Given the description of an element on the screen output the (x, y) to click on. 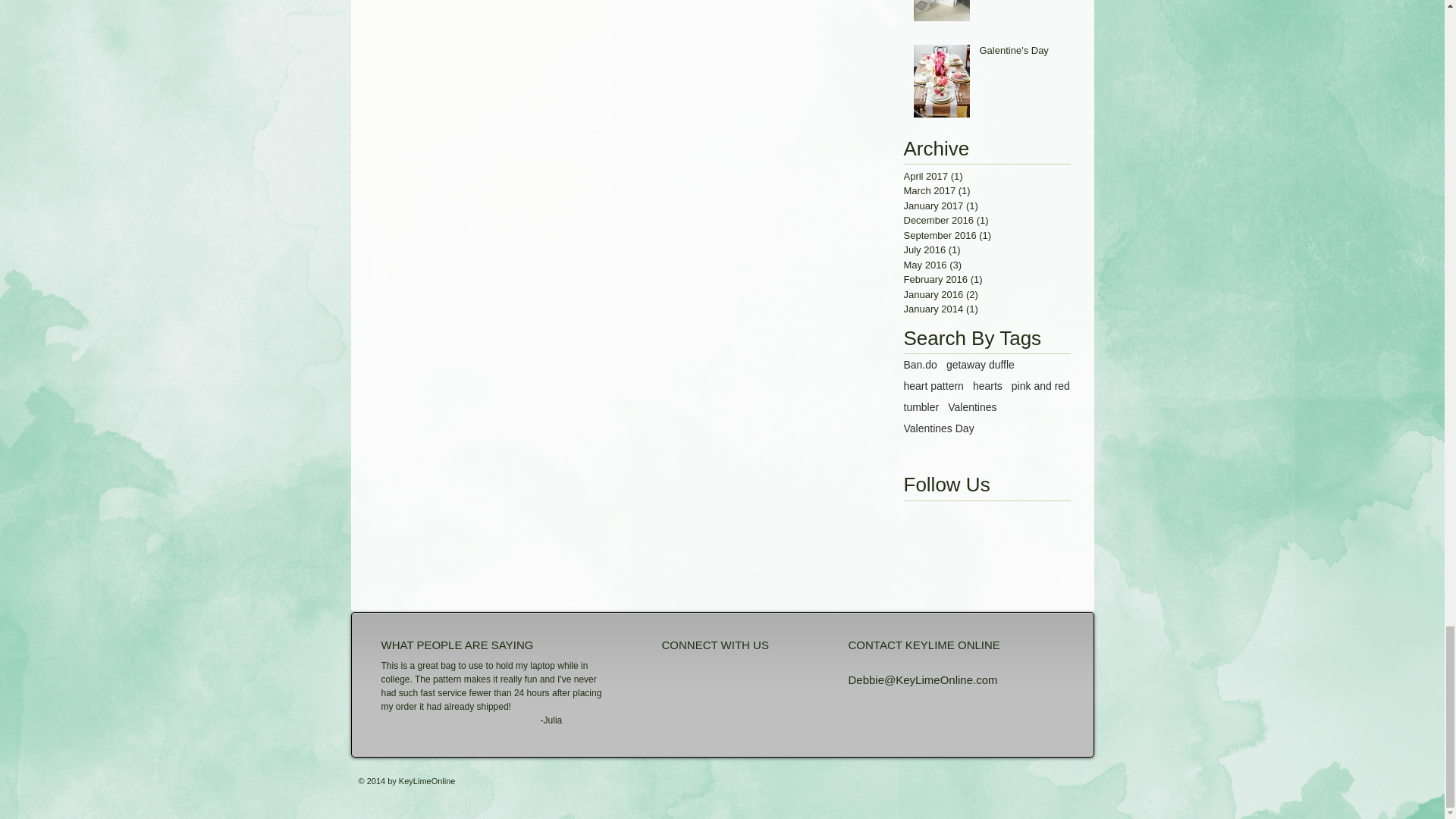
hearts (987, 386)
pink and red (1040, 386)
Ban.do (920, 364)
tumbler (921, 407)
heart pattern (933, 386)
Galentine's Day (1020, 53)
getaway duffle (980, 364)
Valentines (971, 407)
